Given the description of an element on the screen output the (x, y) to click on. 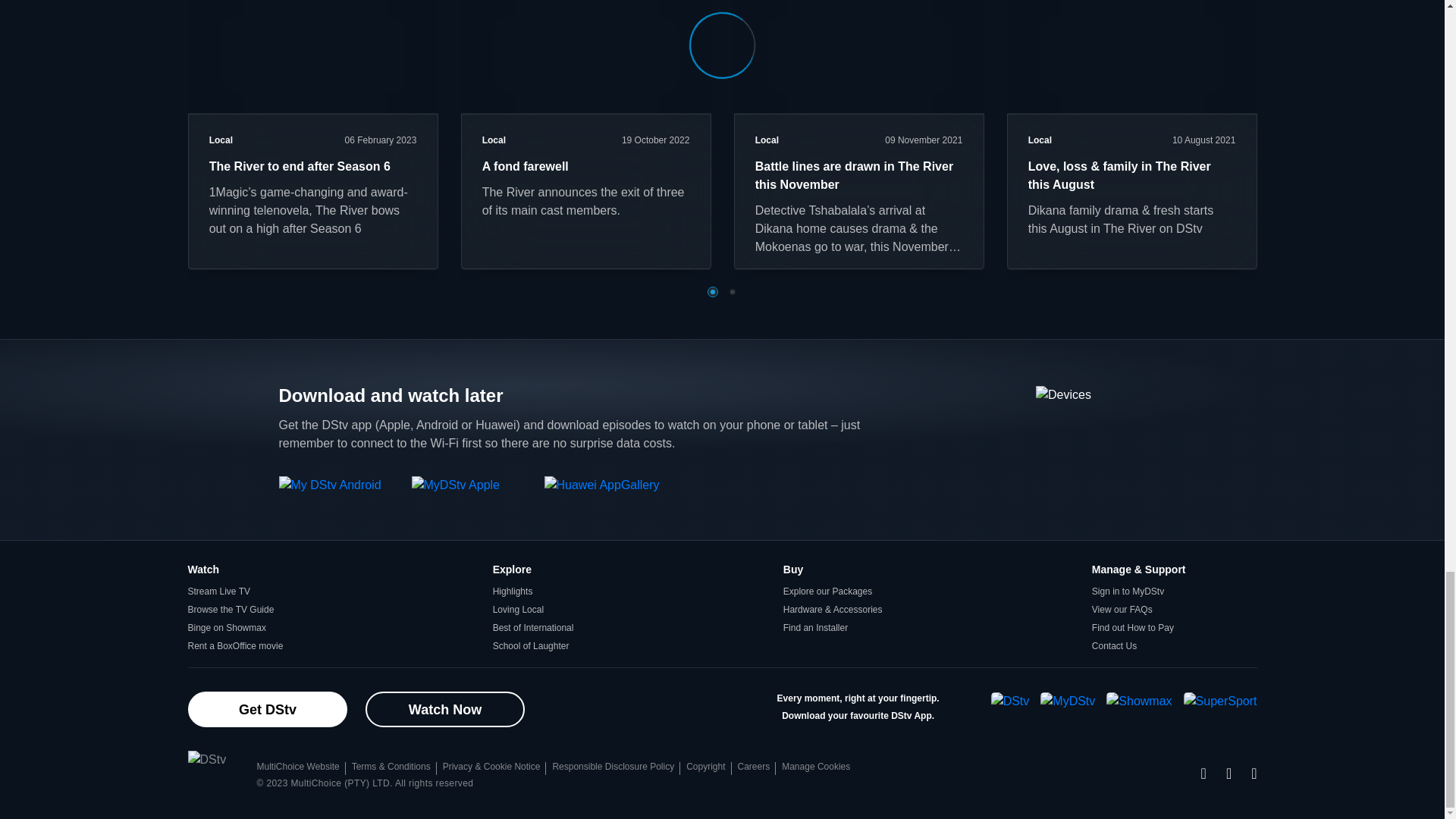
Browse the TV Guide (231, 609)
Stream Live TV (218, 591)
Binge on Showmax (226, 627)
